Given the description of an element on the screen output the (x, y) to click on. 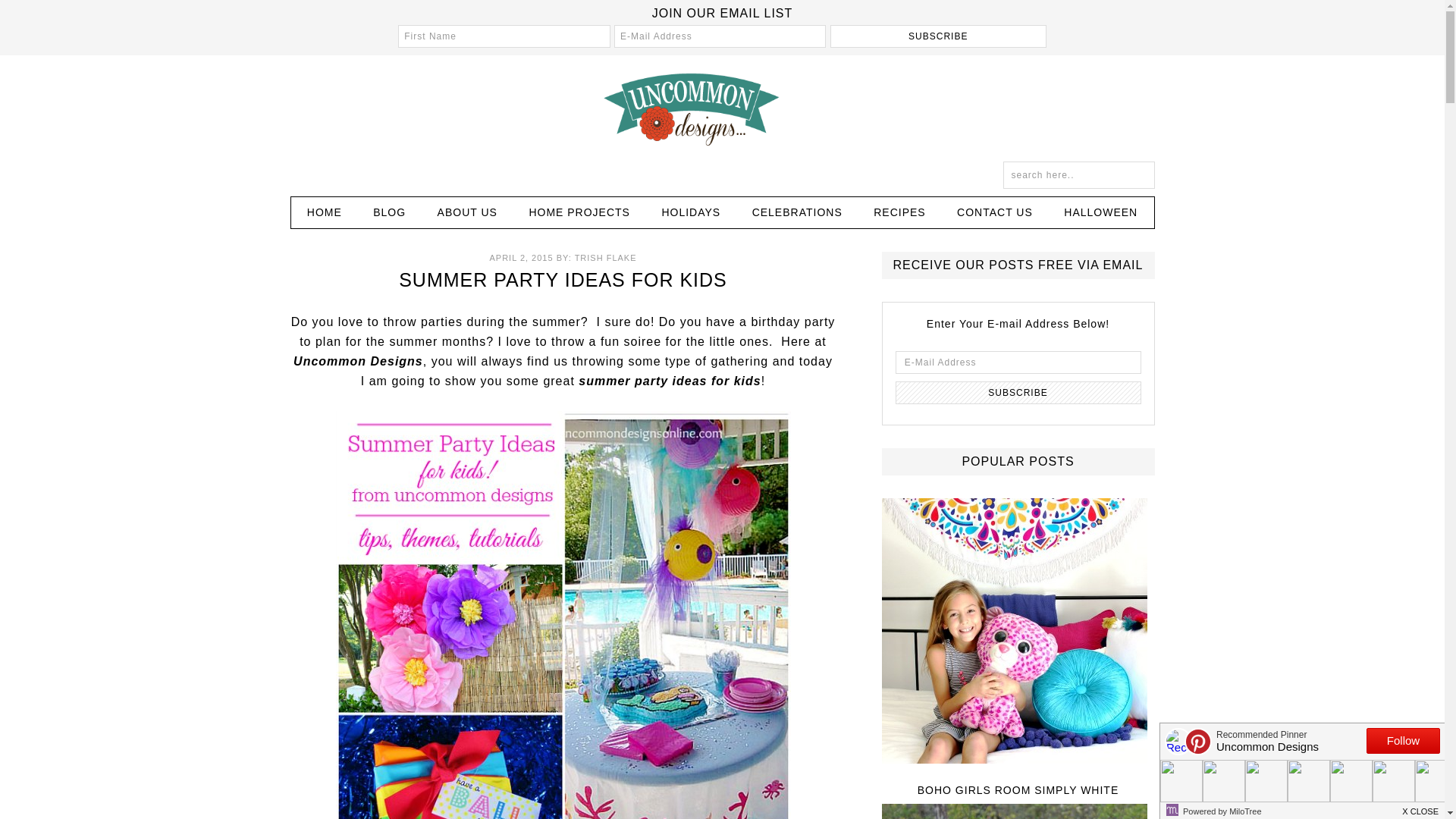
UNCOMMON DESIGNS (721, 108)
BLOG (389, 212)
Contqact Us (994, 212)
About Us (467, 212)
Holidays (690, 212)
Subscribe (1017, 392)
Subscribe (937, 36)
HOLIDAYS (690, 212)
CELEBRATIONS (797, 212)
Subscribe (937, 36)
Home (324, 212)
Celebrations (797, 212)
